Given the description of an element on the screen output the (x, y) to click on. 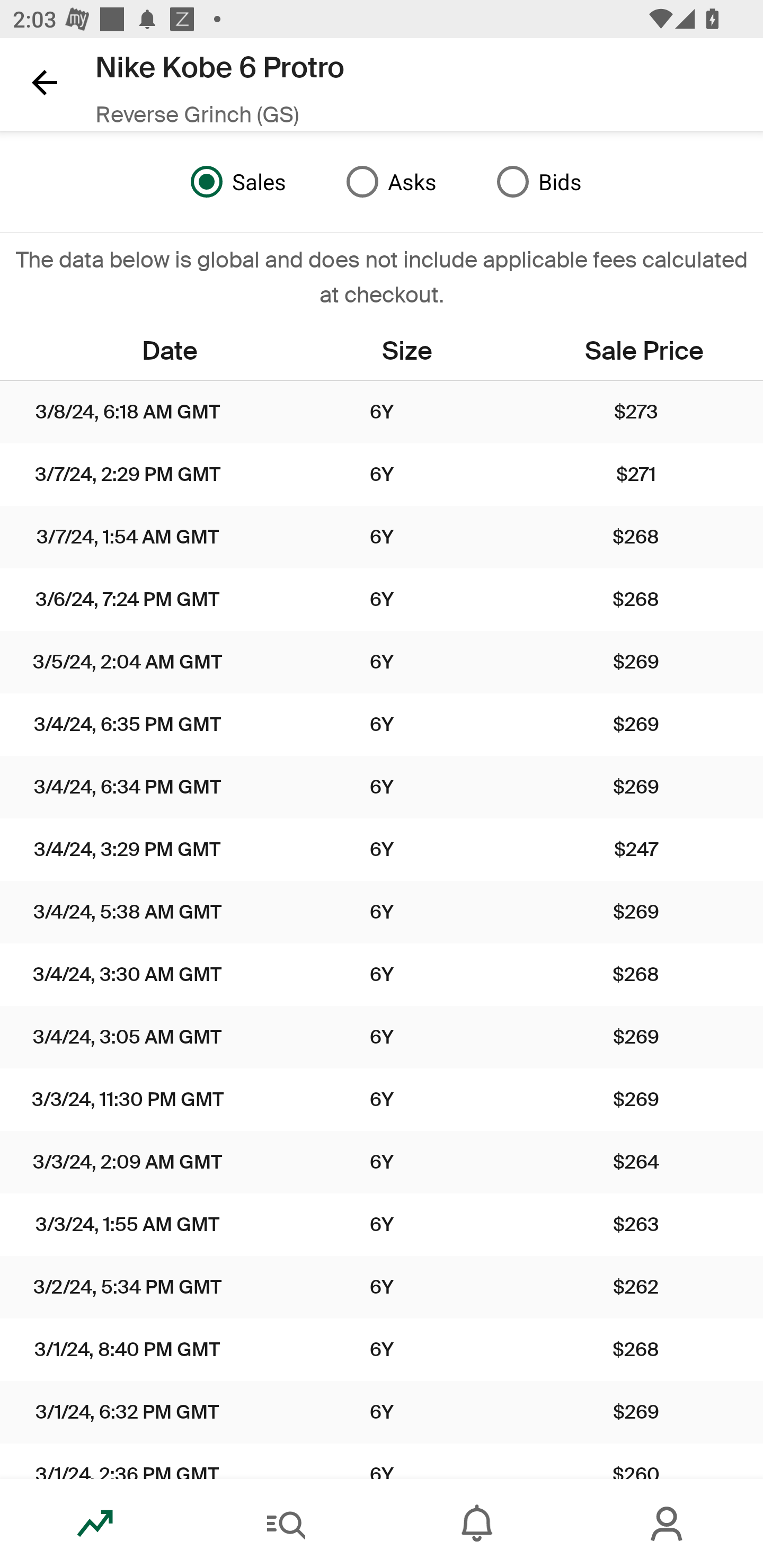
Sales (233, 181)
Asks (386, 181)
Bids (534, 181)
Search (285, 1523)
Inbox (476, 1523)
Account (667, 1523)
